Given the description of an element on the screen output the (x, y) to click on. 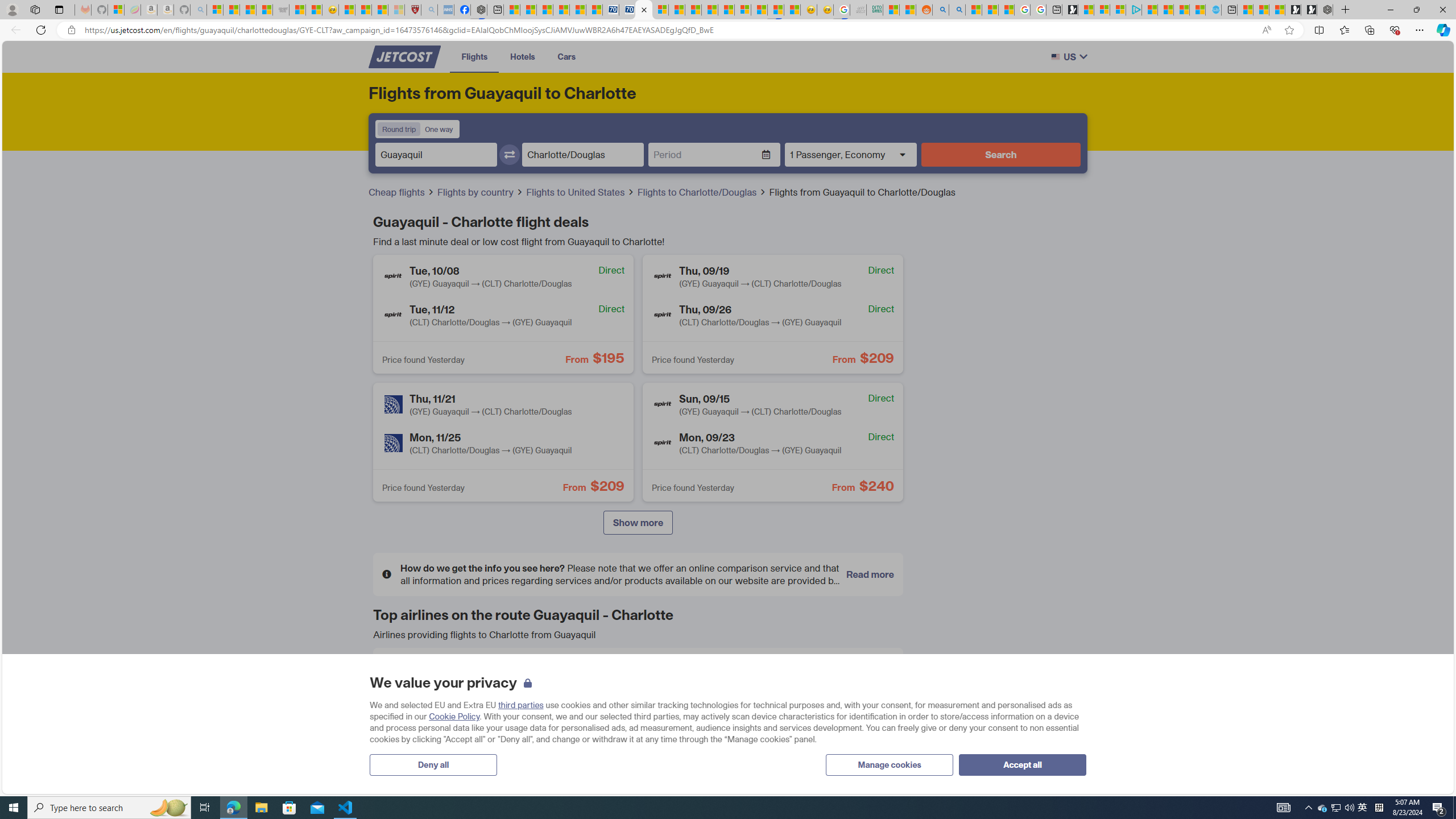
Avianca Avianca (638, 675)
